Given the description of an element on the screen output the (x, y) to click on. 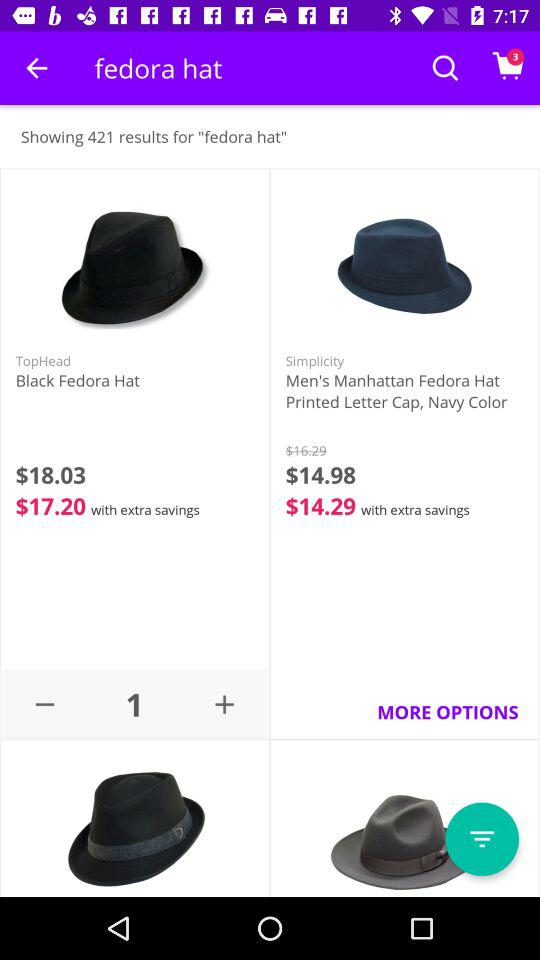
launch the icon next to fedora hat item (36, 68)
